Given the description of an element on the screen output the (x, y) to click on. 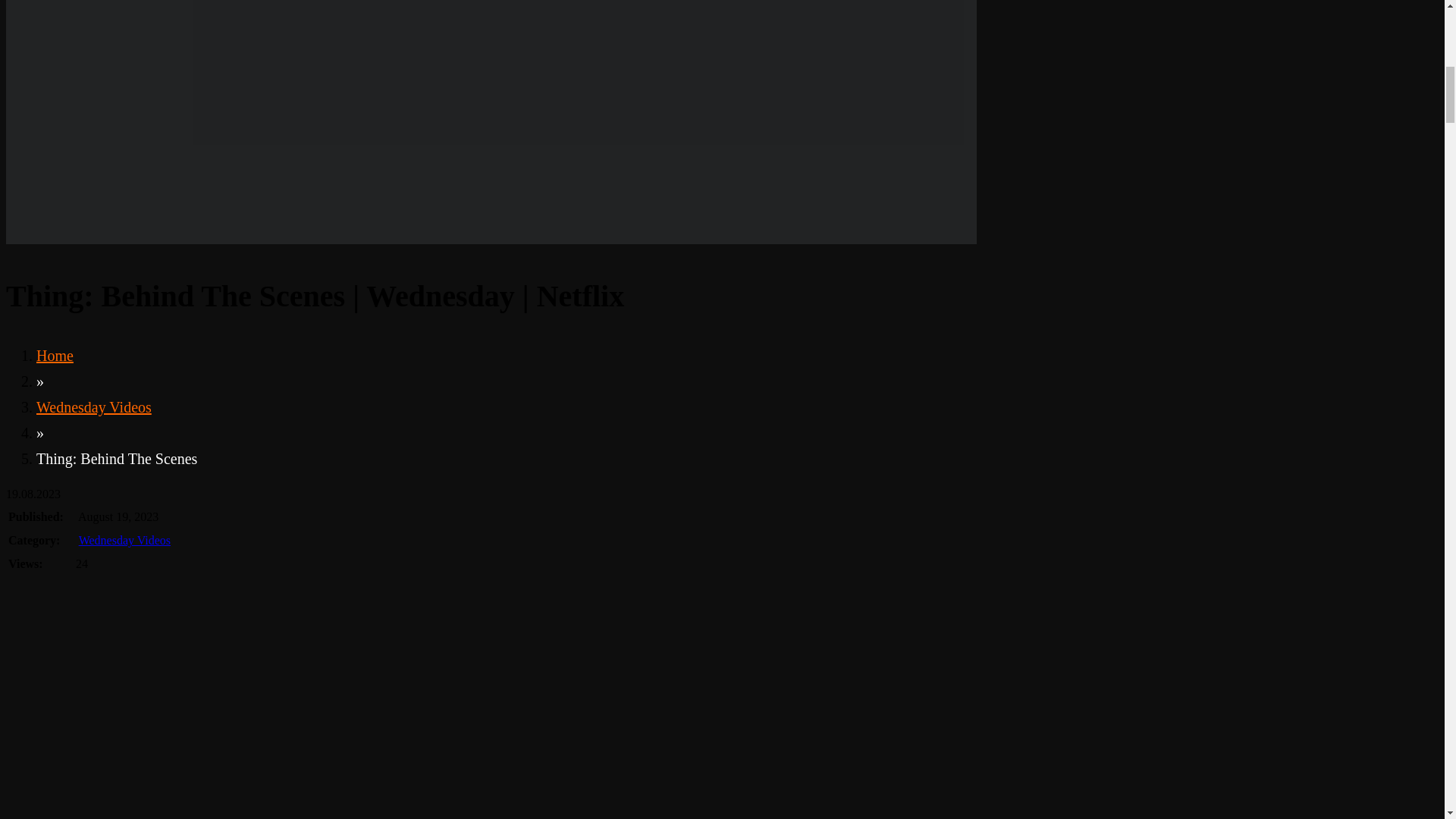
Wednesday Videos (124, 540)
Category Name (93, 406)
Home (55, 355)
Wednesday Videos (93, 406)
